Given the description of an element on the screen output the (x, y) to click on. 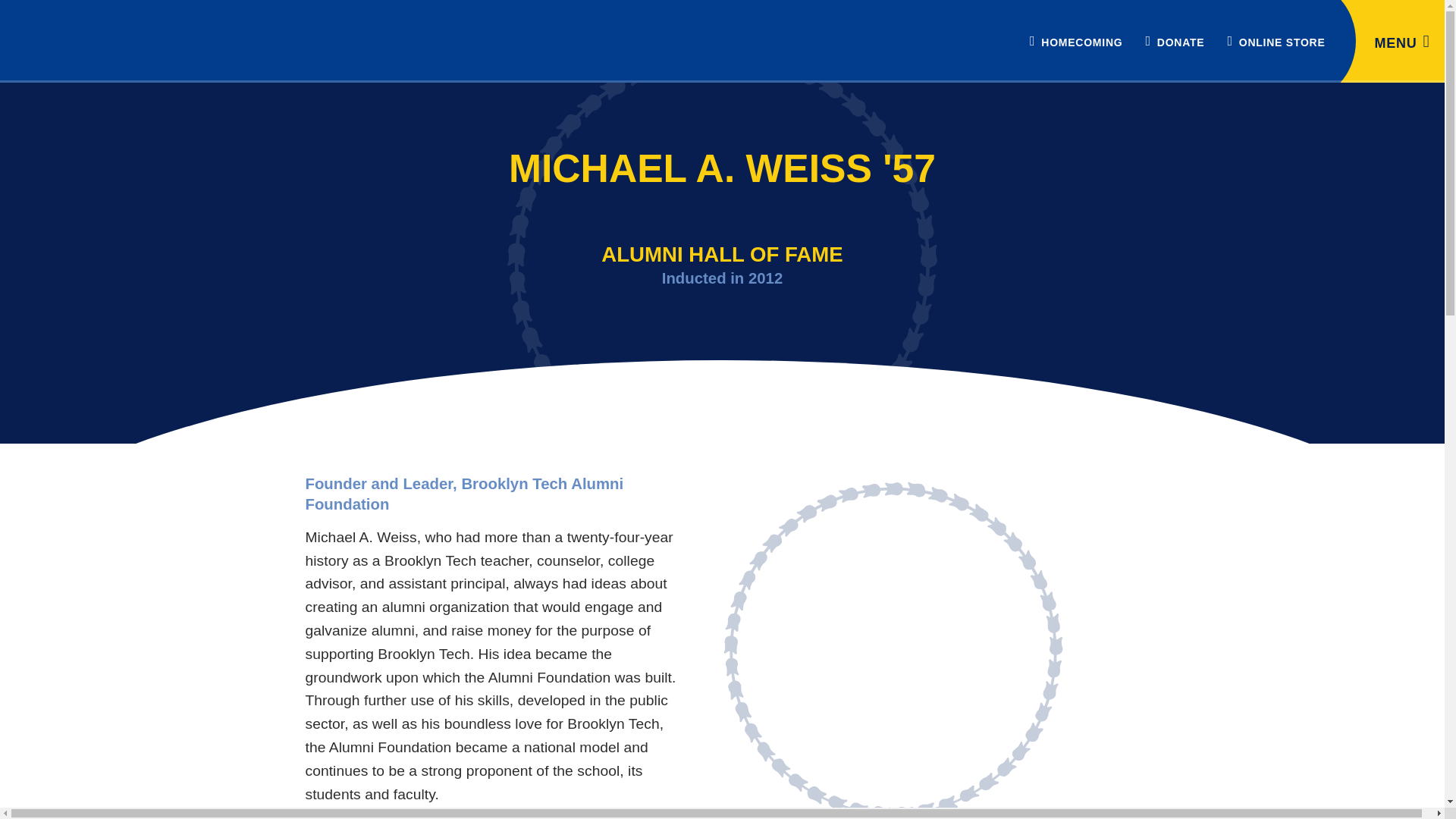
ONLINE STORE (1275, 41)
HOMECOMING (1075, 41)
DONATE (1174, 41)
BTAF Logo Final Tech White (113, 39)
